Given the description of an element on the screen output the (x, y) to click on. 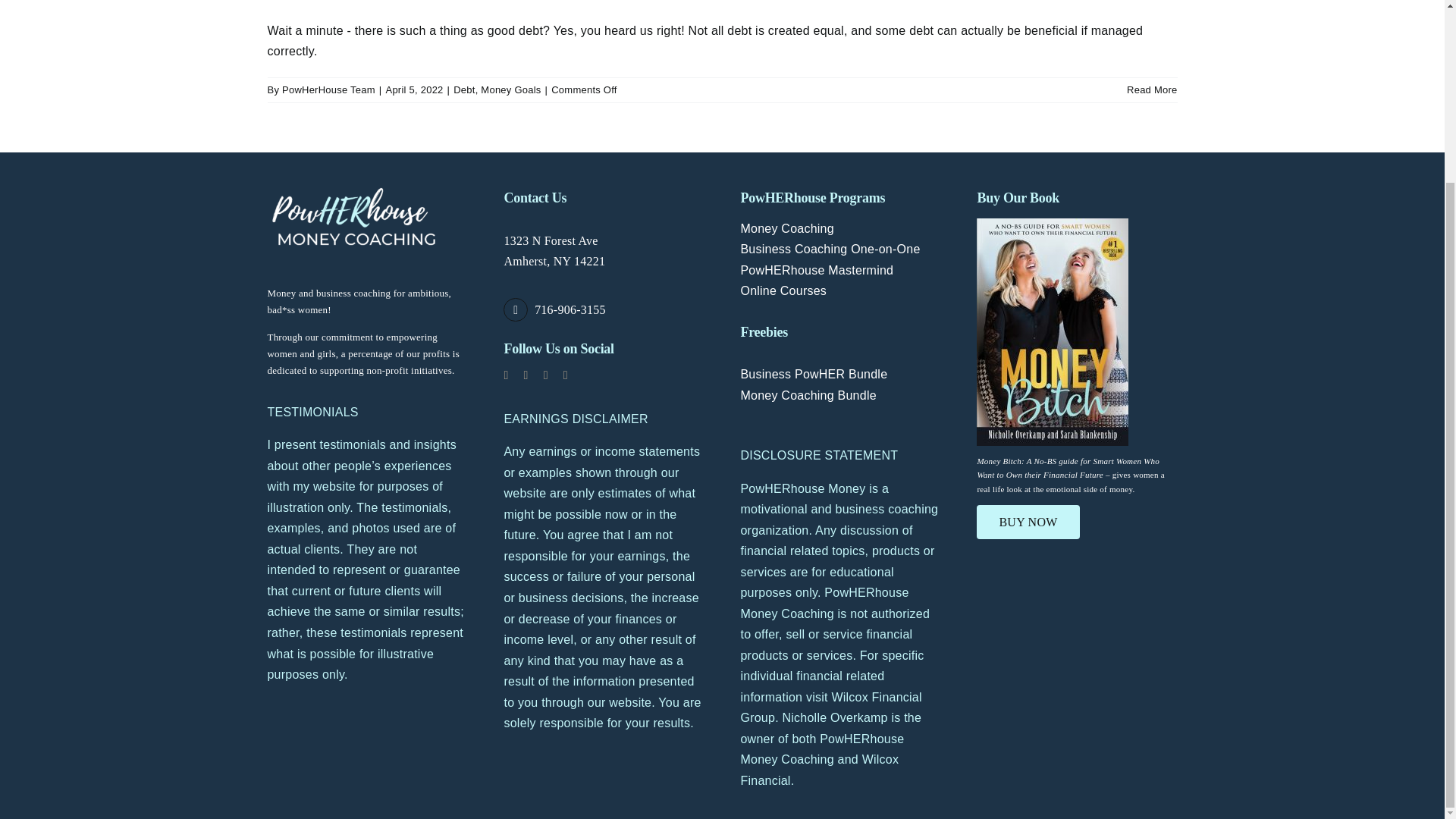
Posts by PowHerHouse Team (328, 89)
